Given the description of an element on the screen output the (x, y) to click on. 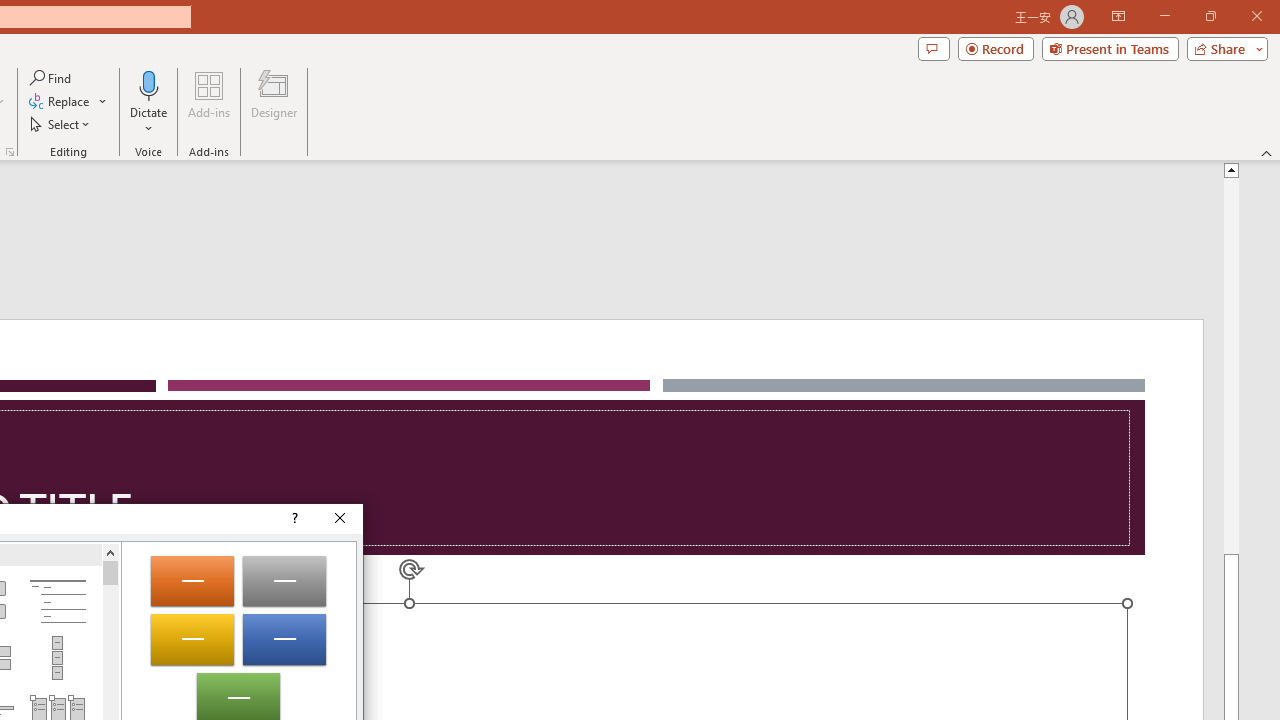
Lined List (57, 601)
Context help (293, 518)
